Given the description of an element on the screen output the (x, y) to click on. 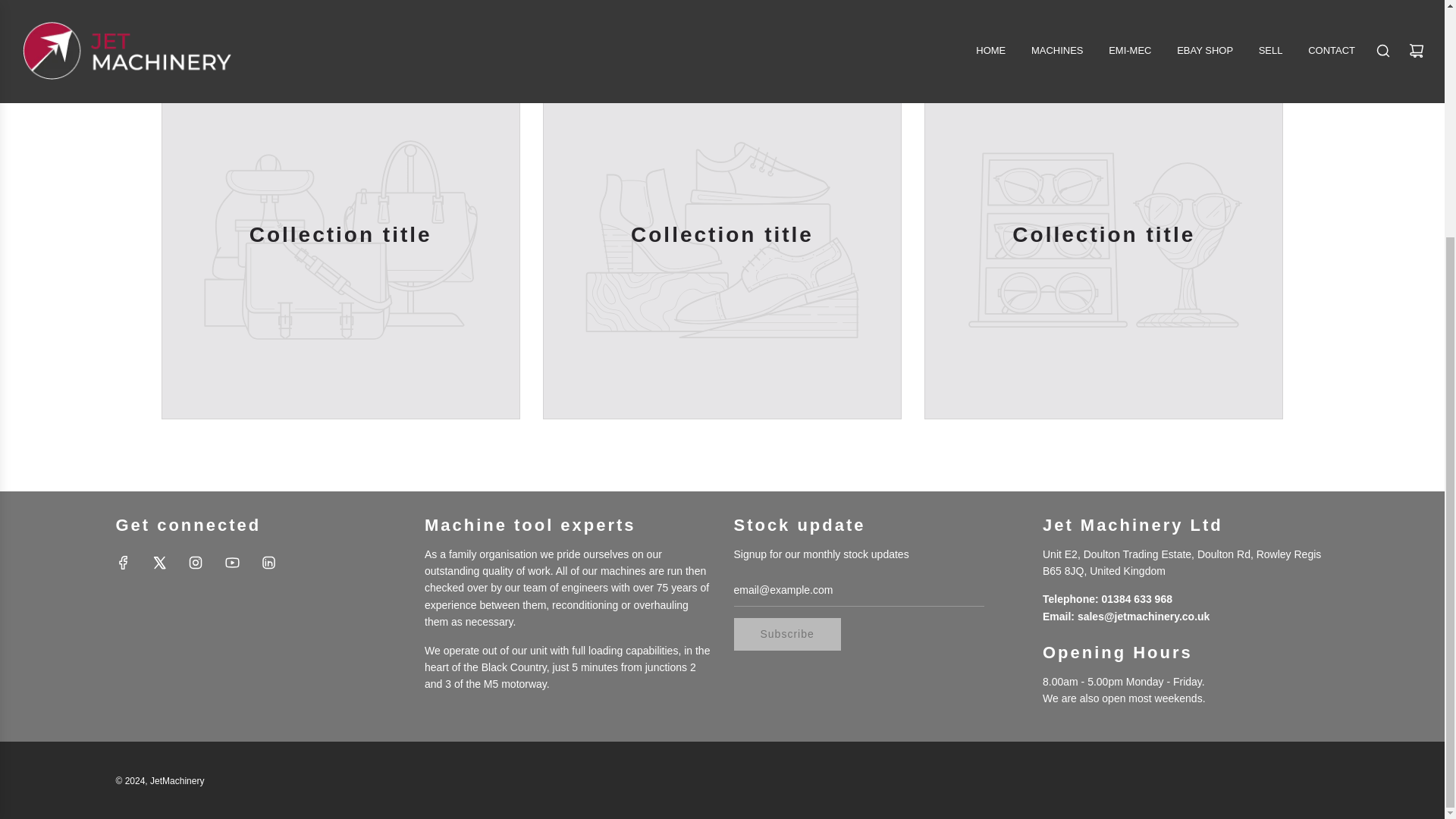
tel:01384 633 968 (1137, 598)
Subscribe (787, 634)
01384 633 968 (1137, 598)
